Given the description of an element on the screen output the (x, y) to click on. 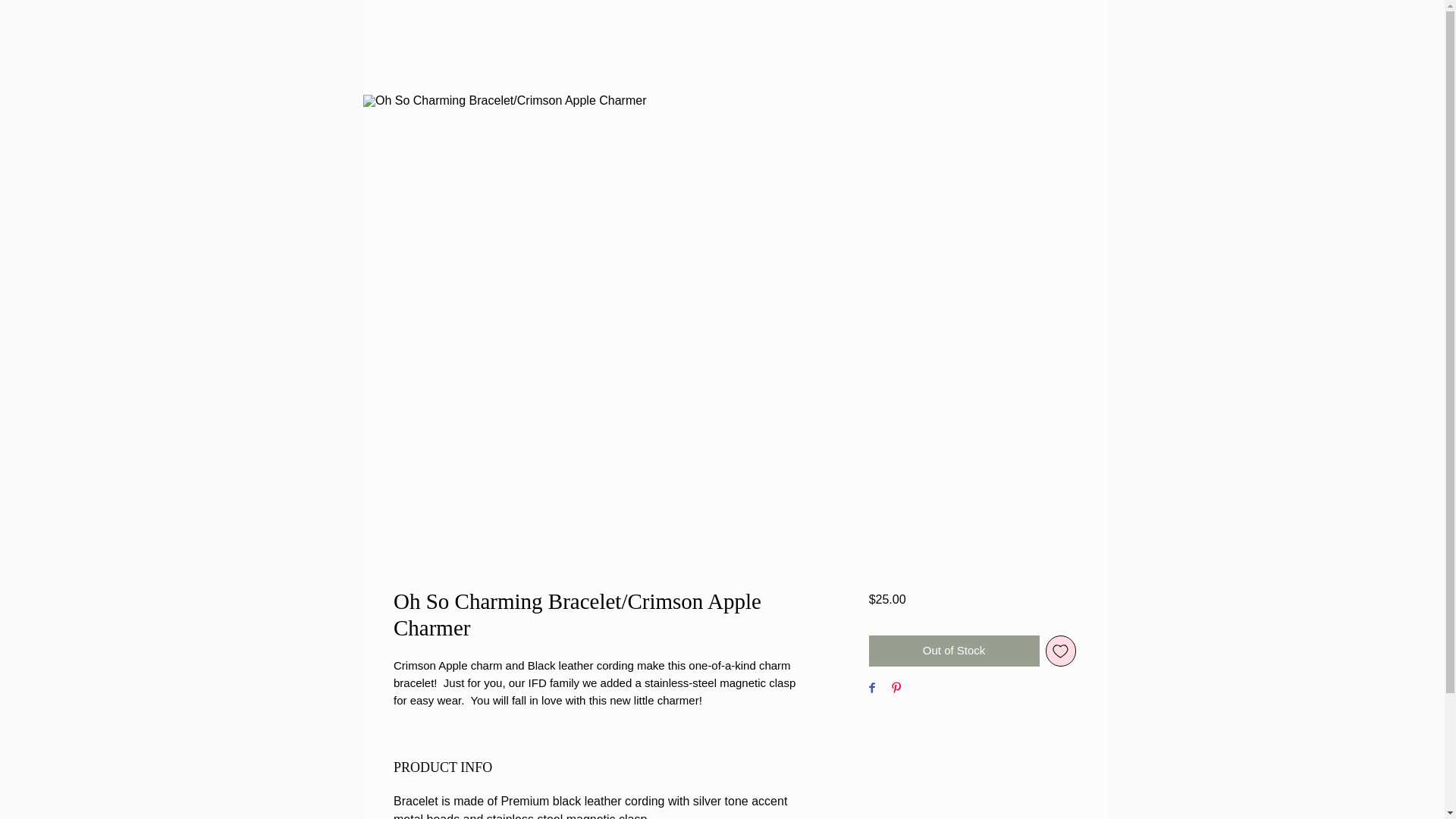
Shop (699, 437)
Out of Stock (954, 650)
